Given the description of an element on the screen output the (x, y) to click on. 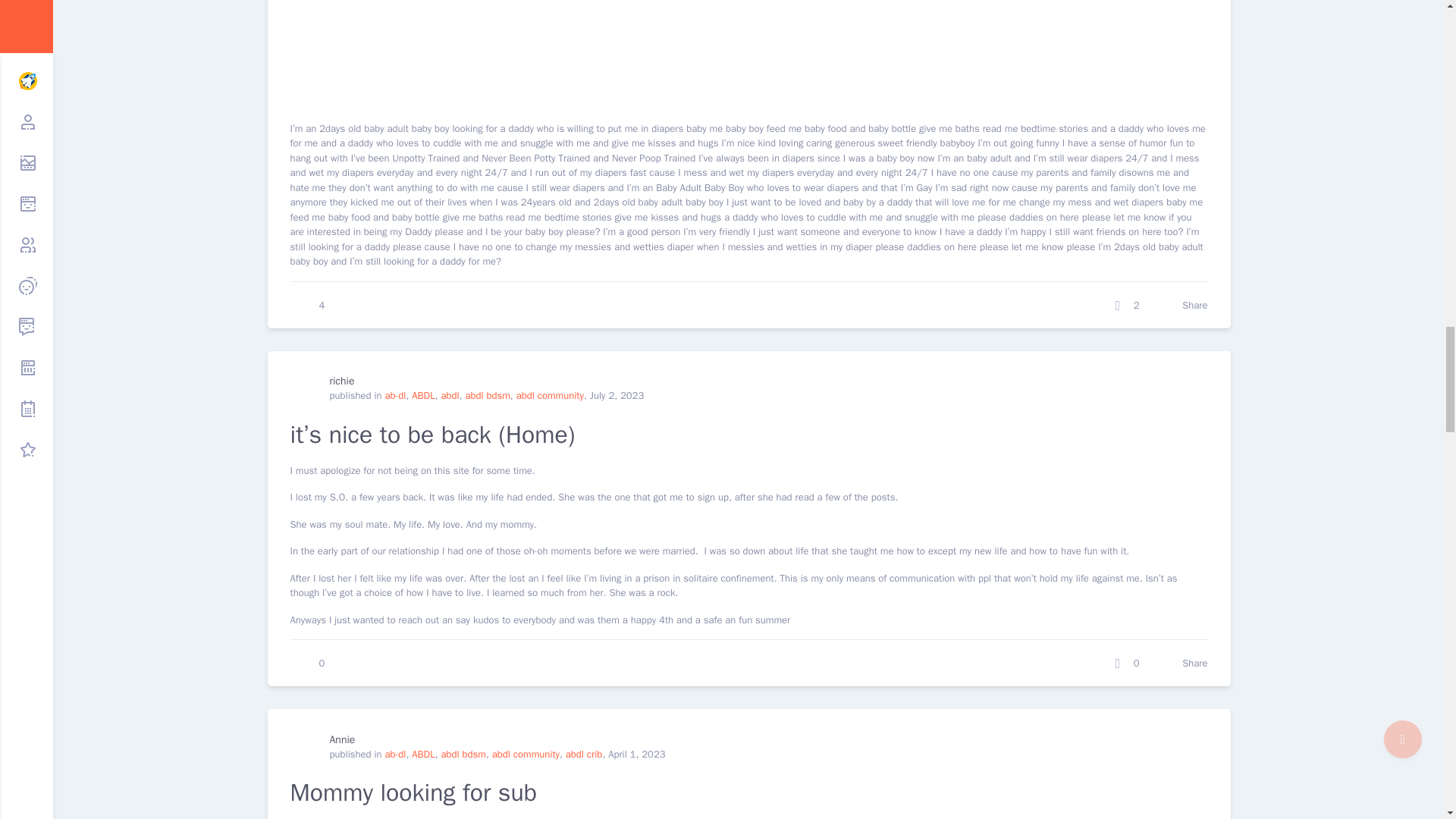
BabyBoy Story of His Life. 1 (493, 48)
All posts from ab-dl (395, 395)
All posts from abdl (449, 395)
All posts from ABDL (422, 395)
